Given the description of an element on the screen output the (x, y) to click on. 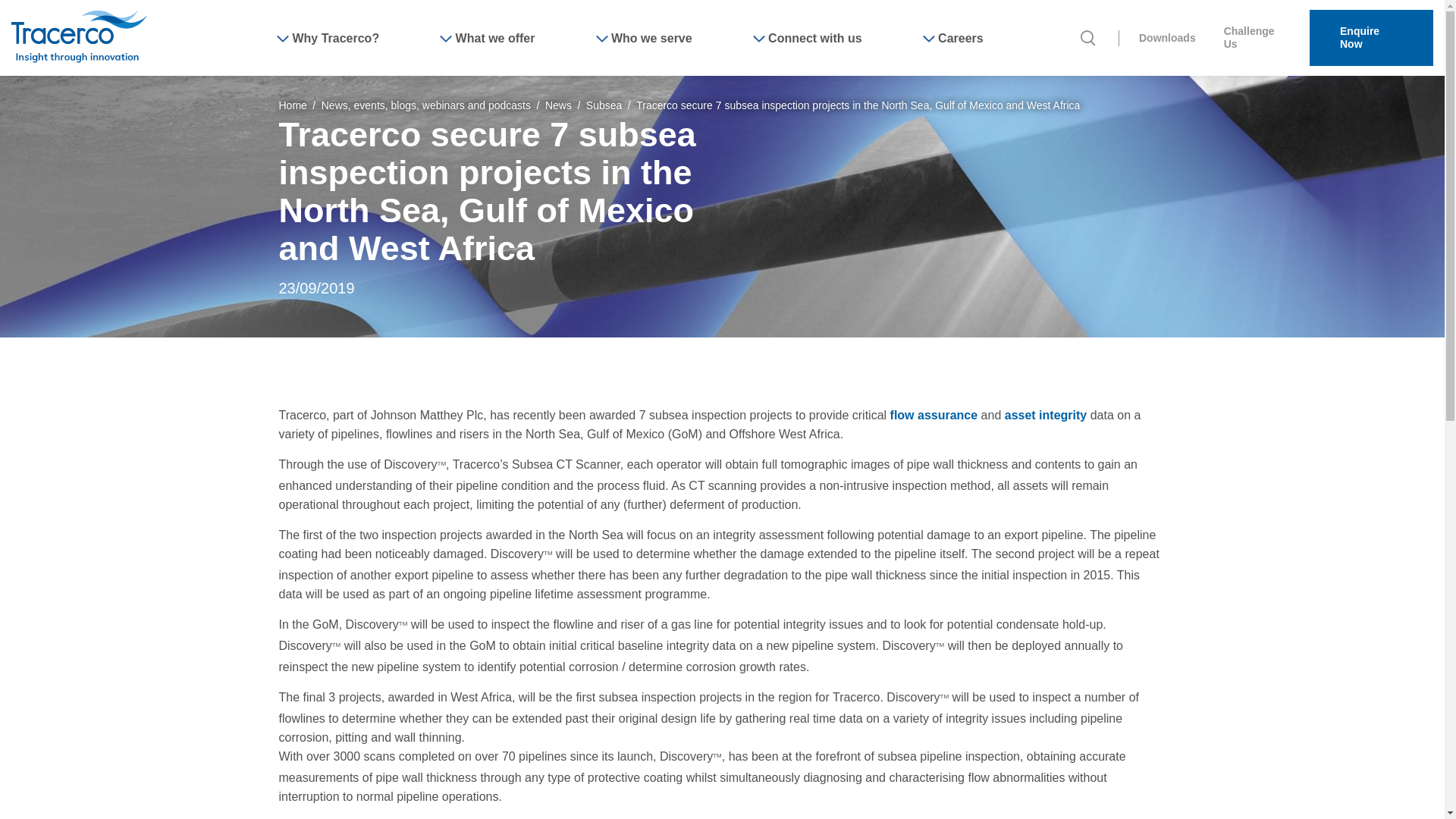
Why Tracerco? (327, 37)
Challenge Us (1257, 37)
Downloads (1166, 38)
Enquire Now (1370, 37)
What we offer (486, 37)
Who we serve (644, 37)
Connect with us (806, 37)
Careers (953, 37)
